Given the description of an element on the screen output the (x, y) to click on. 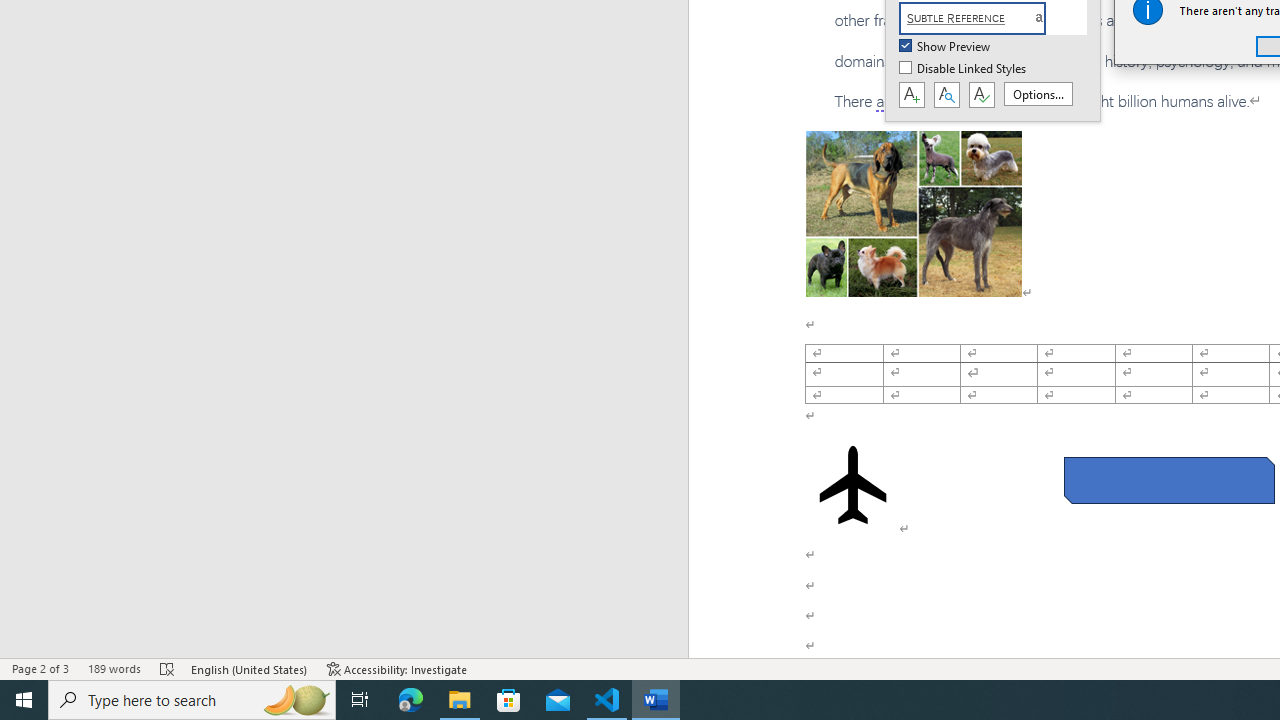
Show Preview (946, 47)
Options... (1037, 93)
Language English (United States) (250, 668)
Search highlights icon opens search home window (295, 699)
Rectangle: Diagonal Corners Snipped 2 (1168, 480)
Task View (359, 699)
Accessibility Checker Accessibility: Investigate (397, 668)
Morphological variation in six dogs (913, 213)
